Given the description of an element on the screen output the (x, y) to click on. 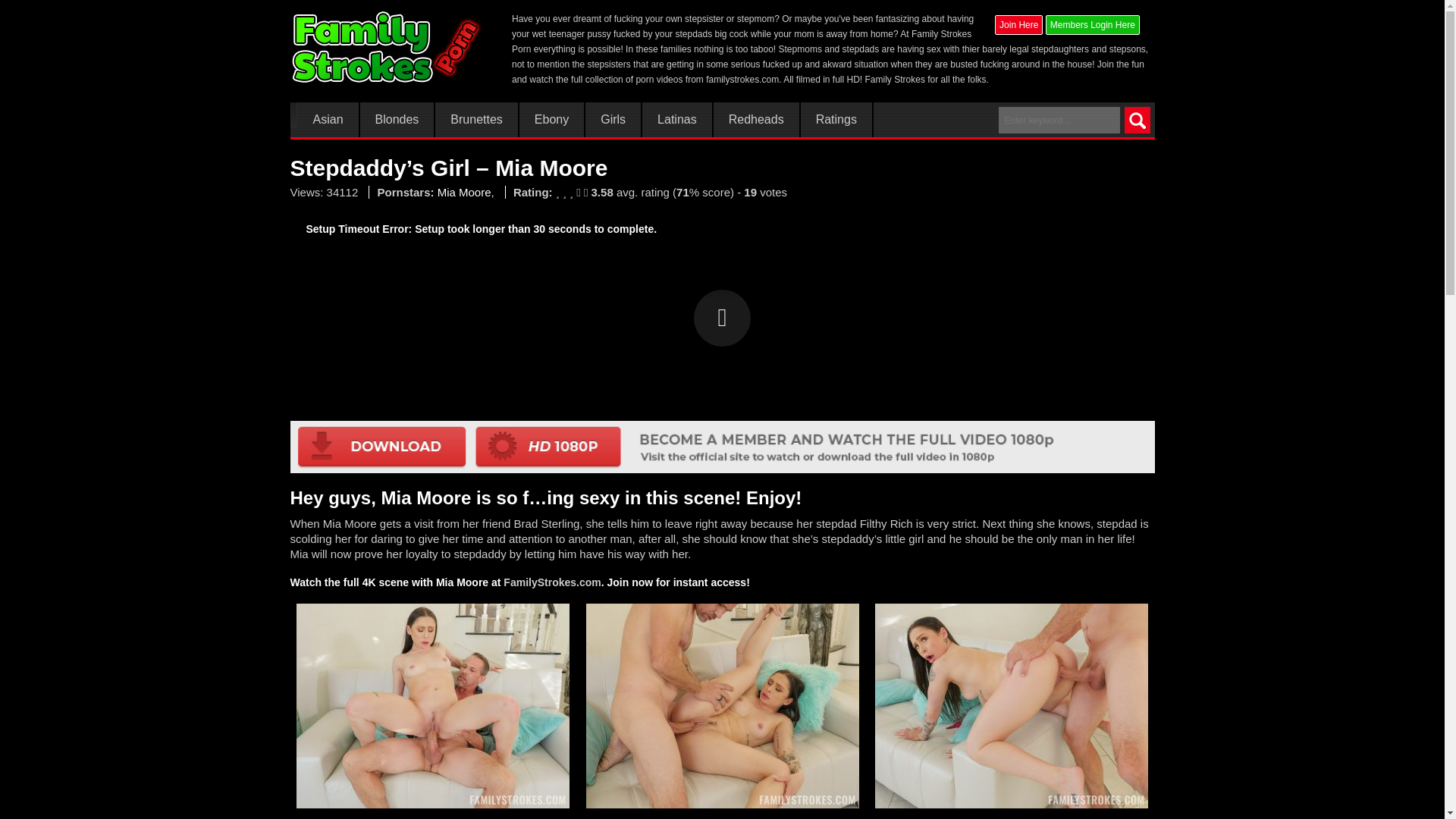
familystrokes.com (742, 79)
Asian (327, 119)
Join Here (1018, 25)
Blondes (397, 119)
Ratings (836, 119)
Home (386, 46)
Members Login Here (1092, 23)
Join Here (1018, 23)
Ebony (551, 119)
Girls (612, 119)
Members Login Here (1092, 25)
Brunettes (475, 119)
